Given the description of an element on the screen output the (x, y) to click on. 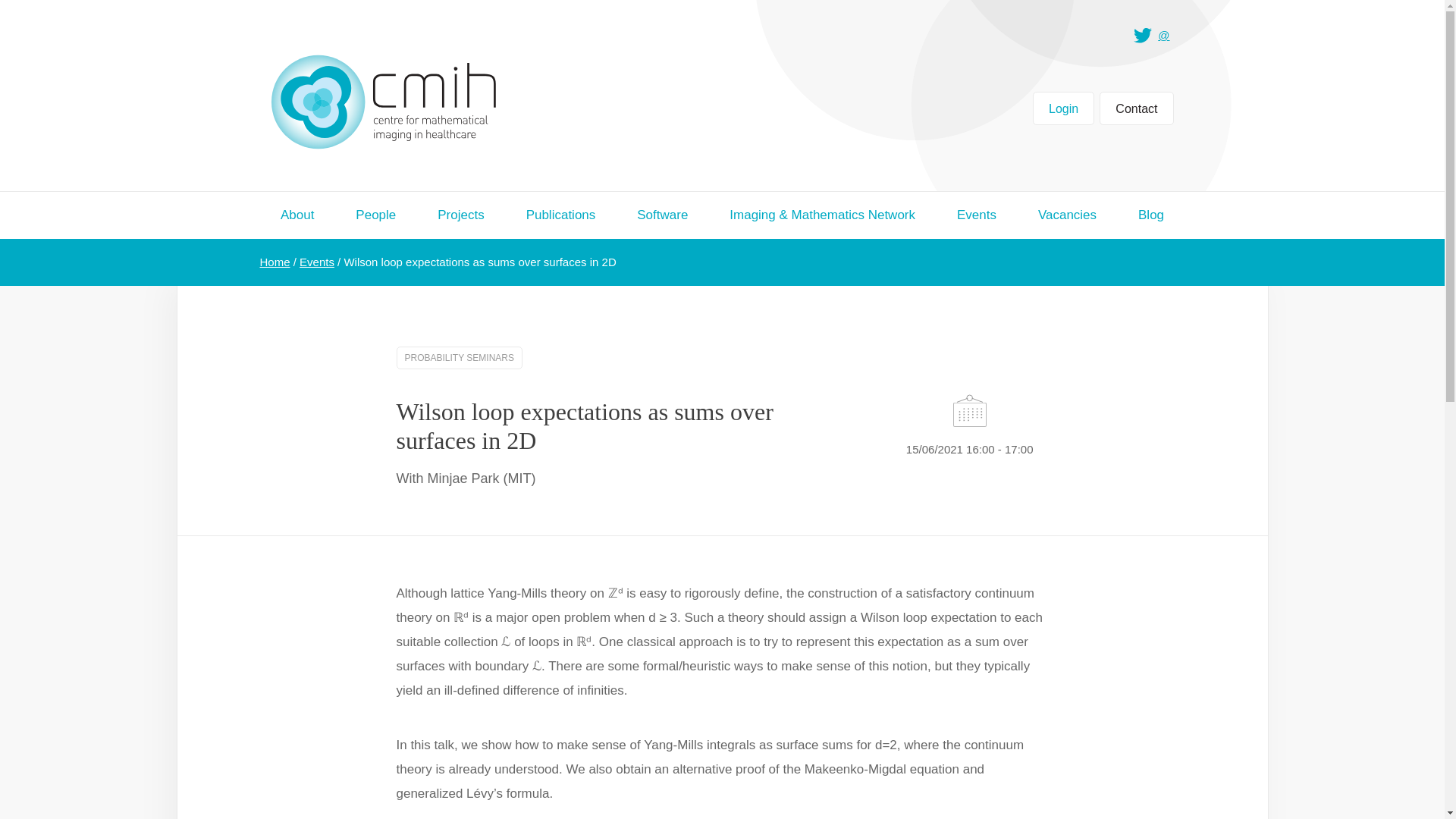
Projects (460, 215)
Contact (1136, 108)
People (375, 215)
Page 1 Created with Sketch. (383, 101)
Page 1 Created with Sketch. (383, 103)
Publications (560, 215)
Login (1063, 108)
Events (976, 215)
Vacancies (1066, 215)
Events (316, 261)
Home (274, 261)
Blog (1151, 215)
Software (662, 215)
About (296, 215)
